Given the description of an element on the screen output the (x, y) to click on. 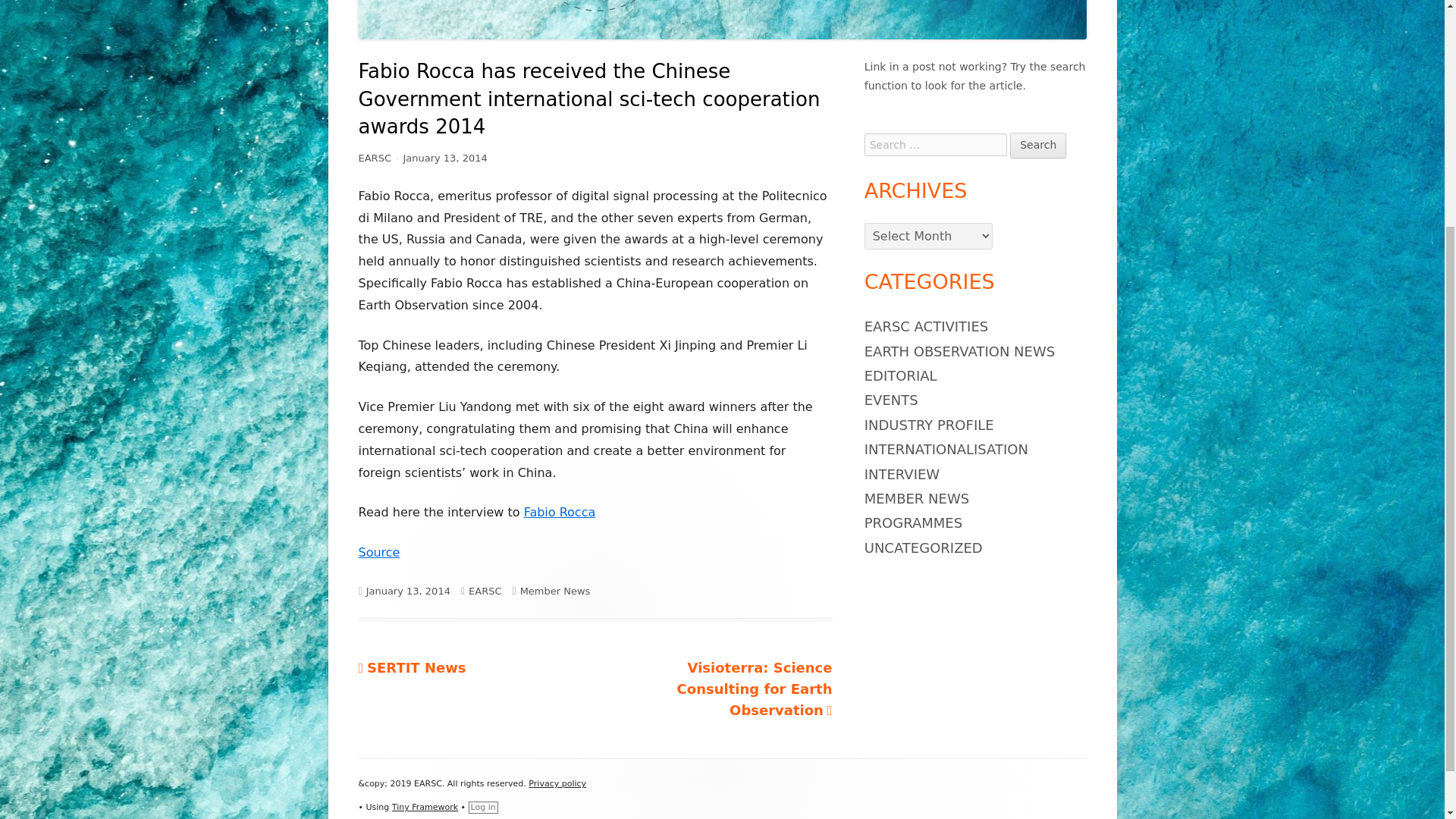
UNCATEGORIZED (923, 547)
January 13, 2014 (444, 157)
EDITORIAL (900, 375)
EARSC (484, 591)
EVENTS (891, 399)
EARSC ACTIVITIES (926, 326)
EARTH OBSERVATION NEWS (959, 351)
Search (1037, 145)
PROGRAMMES (913, 522)
